Given the description of an element on the screen output the (x, y) to click on. 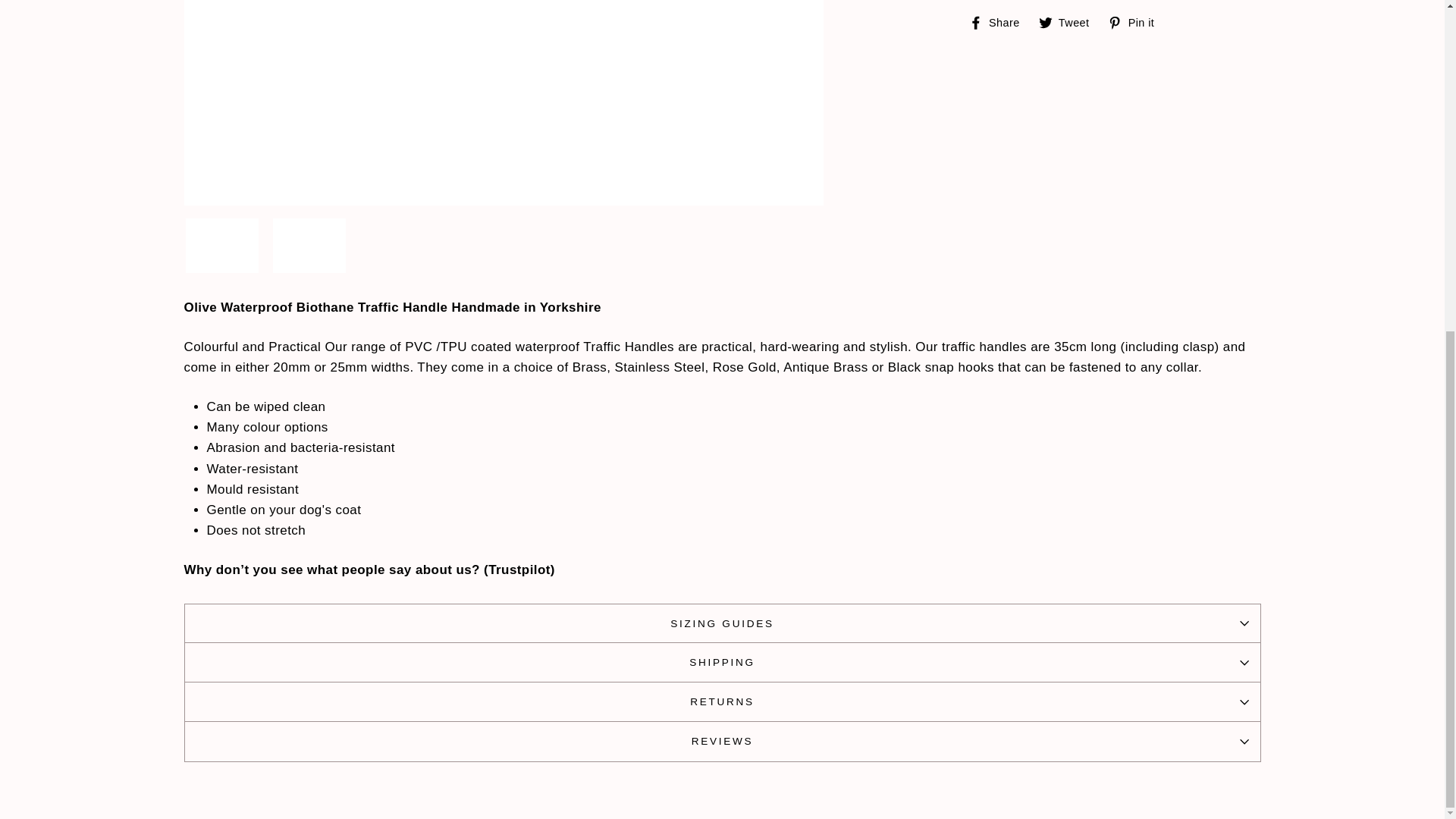
Pin on Pinterest (1137, 21)
Share on Facebook (999, 21)
Tweet on Twitter (1069, 21)
